Given the description of an element on the screen output the (x, y) to click on. 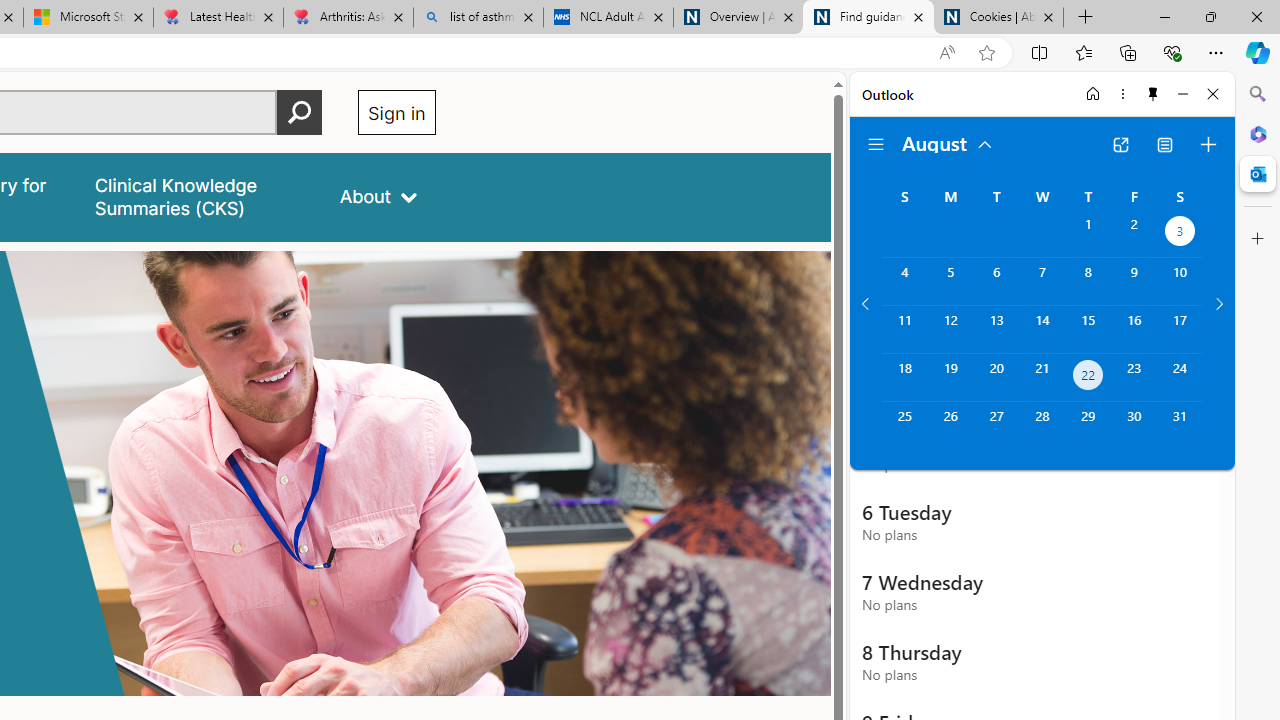
Friday, August 9, 2024.  (1134, 281)
Friday, August 16, 2024.  (1134, 329)
Thursday, August 15, 2024.  (1088, 329)
Perform search (299, 112)
View Switcher. Current view is Agenda view (1165, 144)
Wednesday, August 21, 2024.  (1042, 377)
Monday, August 12, 2024.  (950, 329)
Thursday, August 8, 2024.  (1088, 281)
Wednesday, August 28, 2024.  (1042, 425)
